Given the description of an element on the screen output the (x, y) to click on. 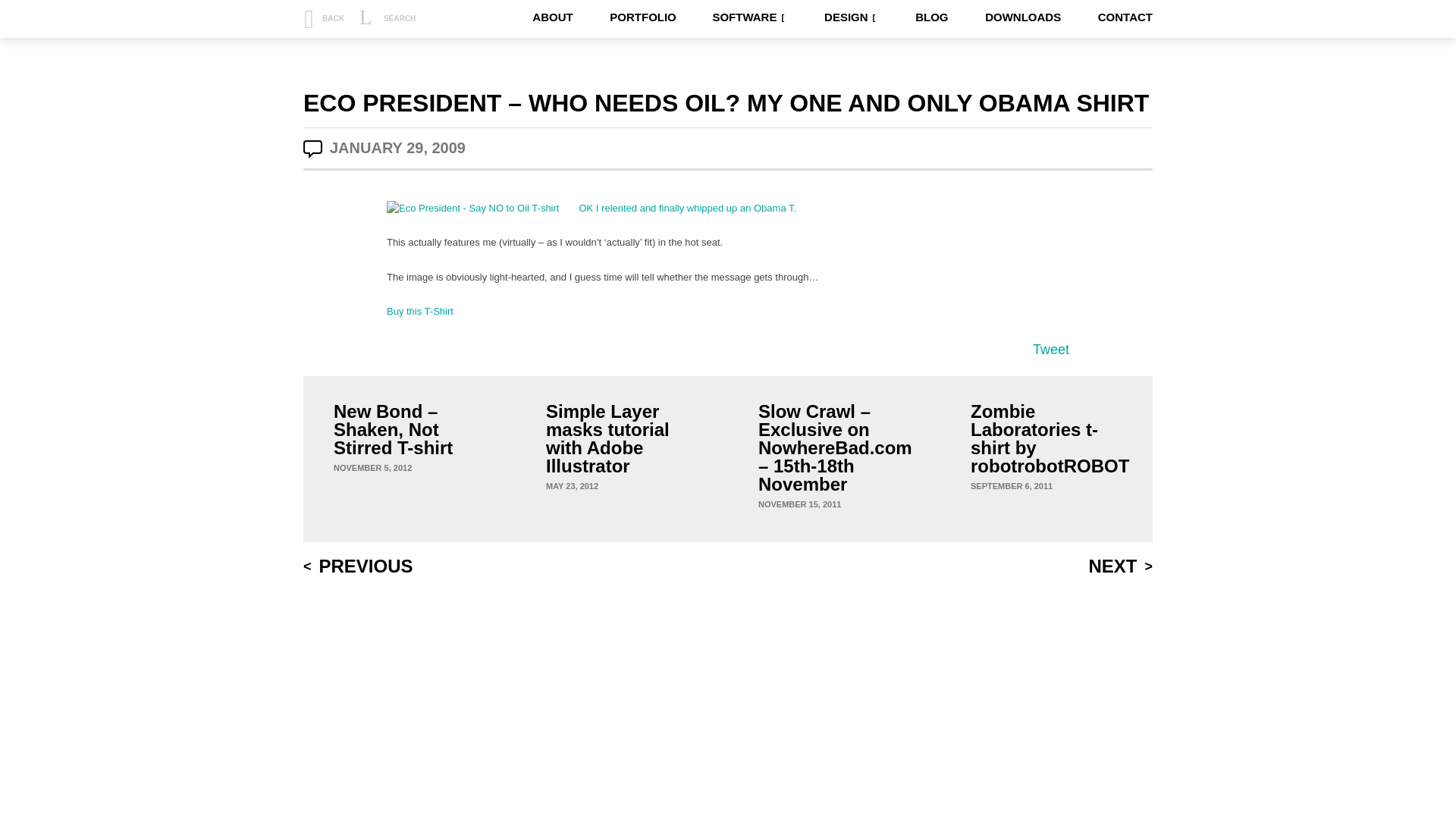
CONTACT (1125, 16)
MAY 23, 2012 (572, 485)
Simple Layer masks tutorial with Adobe Illustrator (607, 438)
SOFTWARE (747, 17)
Tweet (1050, 348)
PORTFOLIO (643, 16)
OK I relented and finally whipped up an Obama T. (687, 206)
BLOG (931, 16)
DESIGN (849, 17)
ABOUT (552, 16)
NOVEMBER 5, 2012 (372, 467)
NOVEMBER 15, 2011 (799, 503)
Buy this T-Shirt (419, 310)
BACK (322, 18)
DOWNLOADS (1023, 16)
